Given the description of an element on the screen output the (x, y) to click on. 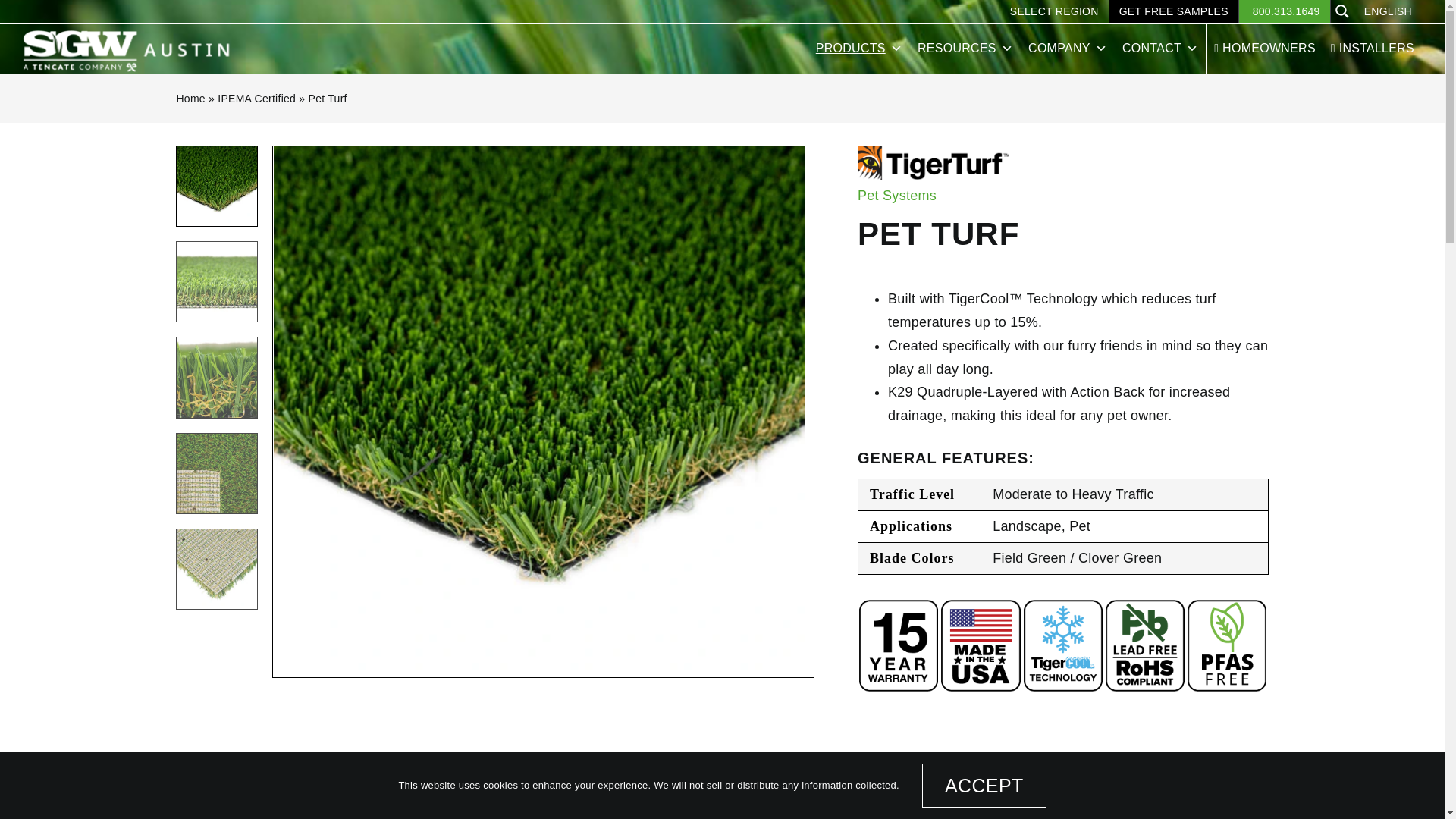
800.313.1649 (1284, 11)
SELECT REGION (1054, 11)
GET FREE SAMPLES (1174, 11)
English (1388, 11)
ENGLISH (1388, 11)
